Given the description of an element on the screen output the (x, y) to click on. 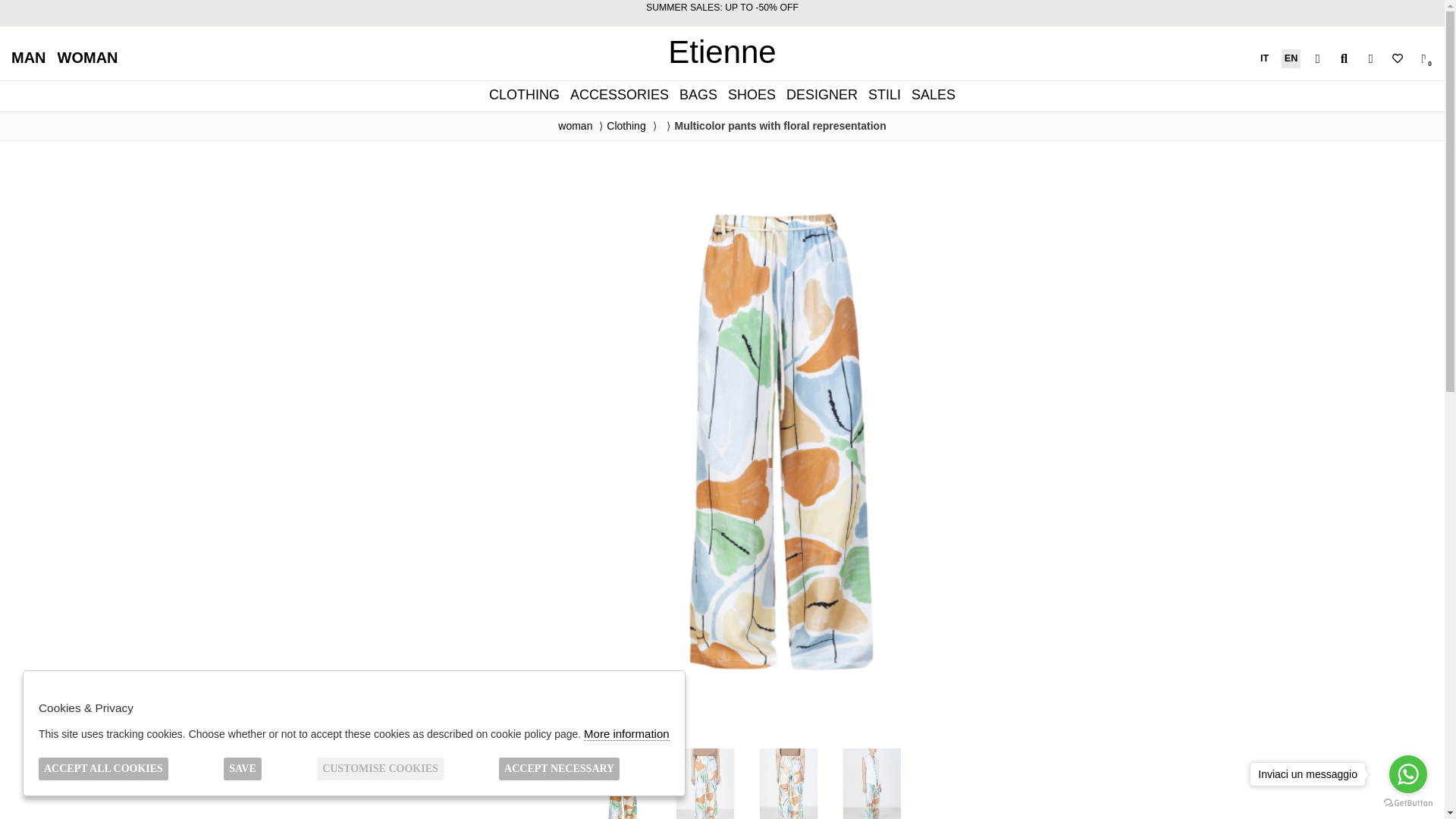
Carrello (1422, 58)
EN (1290, 58)
DESIGNER (821, 94)
Wishlist (1396, 58)
WOMAN (87, 57)
Etienne (722, 51)
SHOES (751, 94)
MAN (28, 57)
Countries (1316, 58)
0 (1422, 58)
Ricerca (1344, 58)
IT (1264, 58)
STILI (884, 94)
CLOTHING (523, 94)
ACCESSORIES (619, 94)
